Given the description of an element on the screen output the (x, y) to click on. 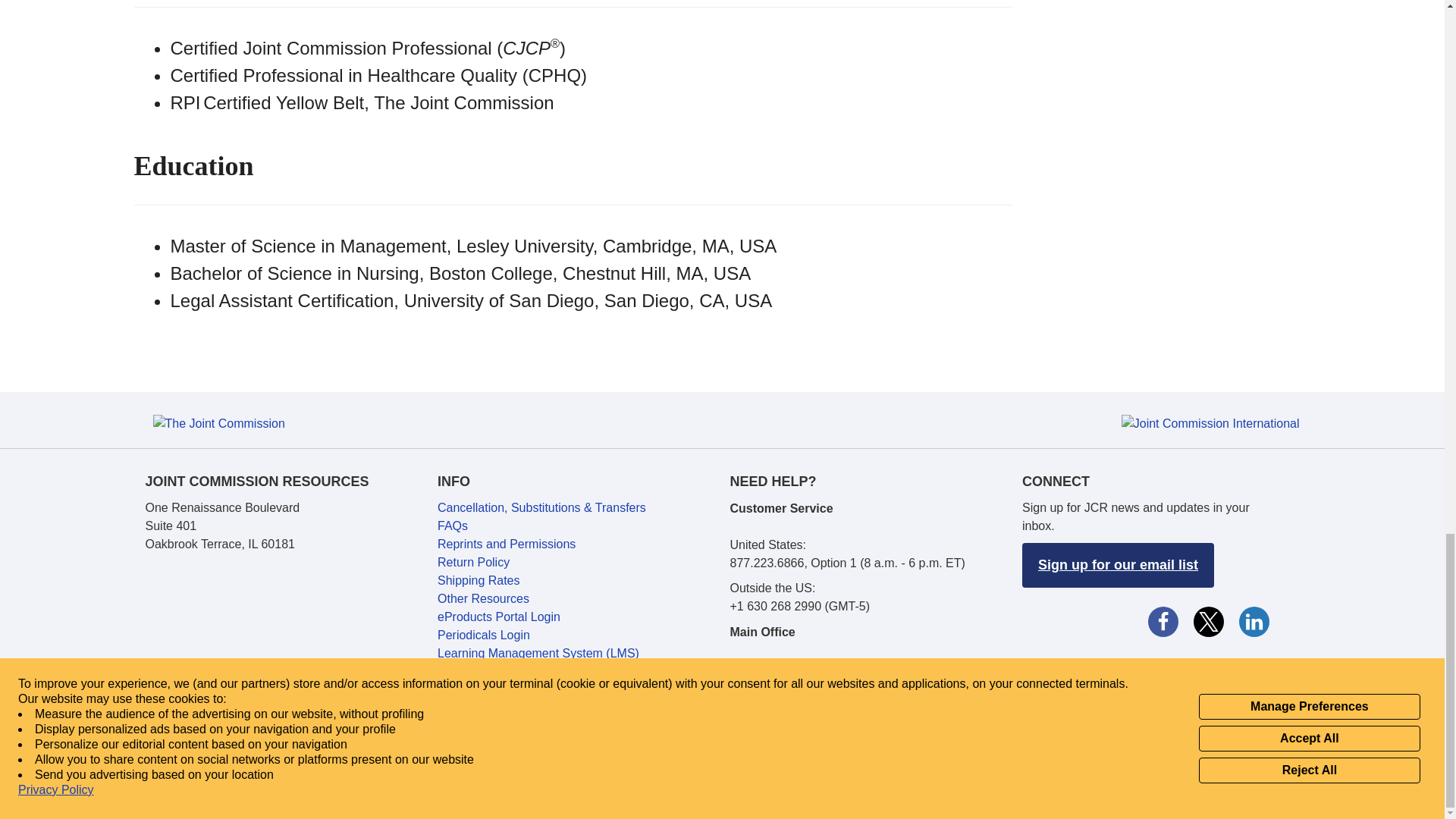
X (1207, 620)
Visit the Joint Commission International website (1210, 422)
FAQs (452, 525)
facebook (1162, 620)
Visit The Joint Commission website (218, 422)
The Joint Commission (218, 423)
linkedin (1253, 620)
Shipping Rate (542, 507)
Joint Commission International (1210, 423)
